Given the description of an element on the screen output the (x, y) to click on. 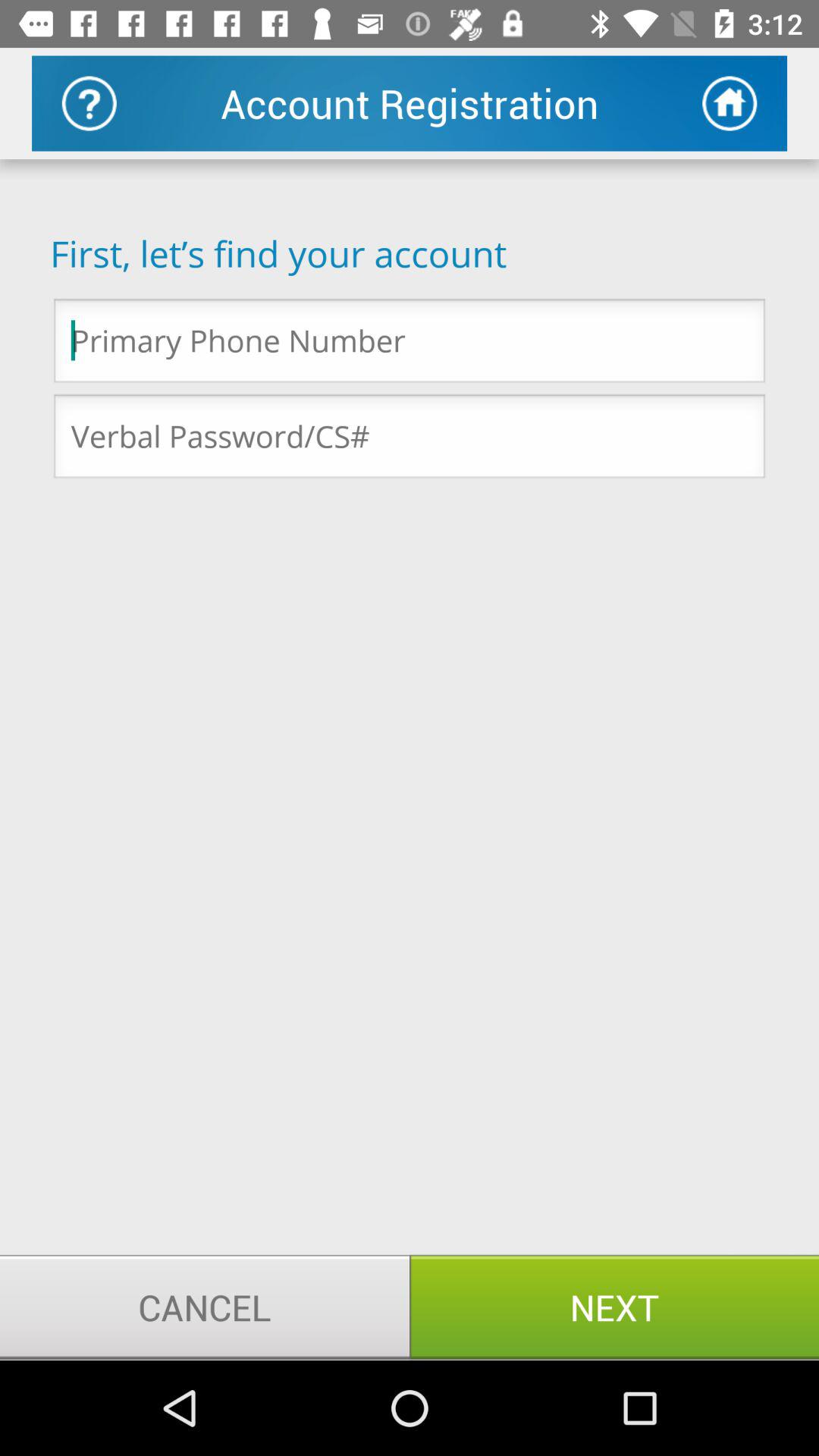
launch the icon at the bottom left corner (204, 1307)
